Given the description of an element on the screen output the (x, y) to click on. 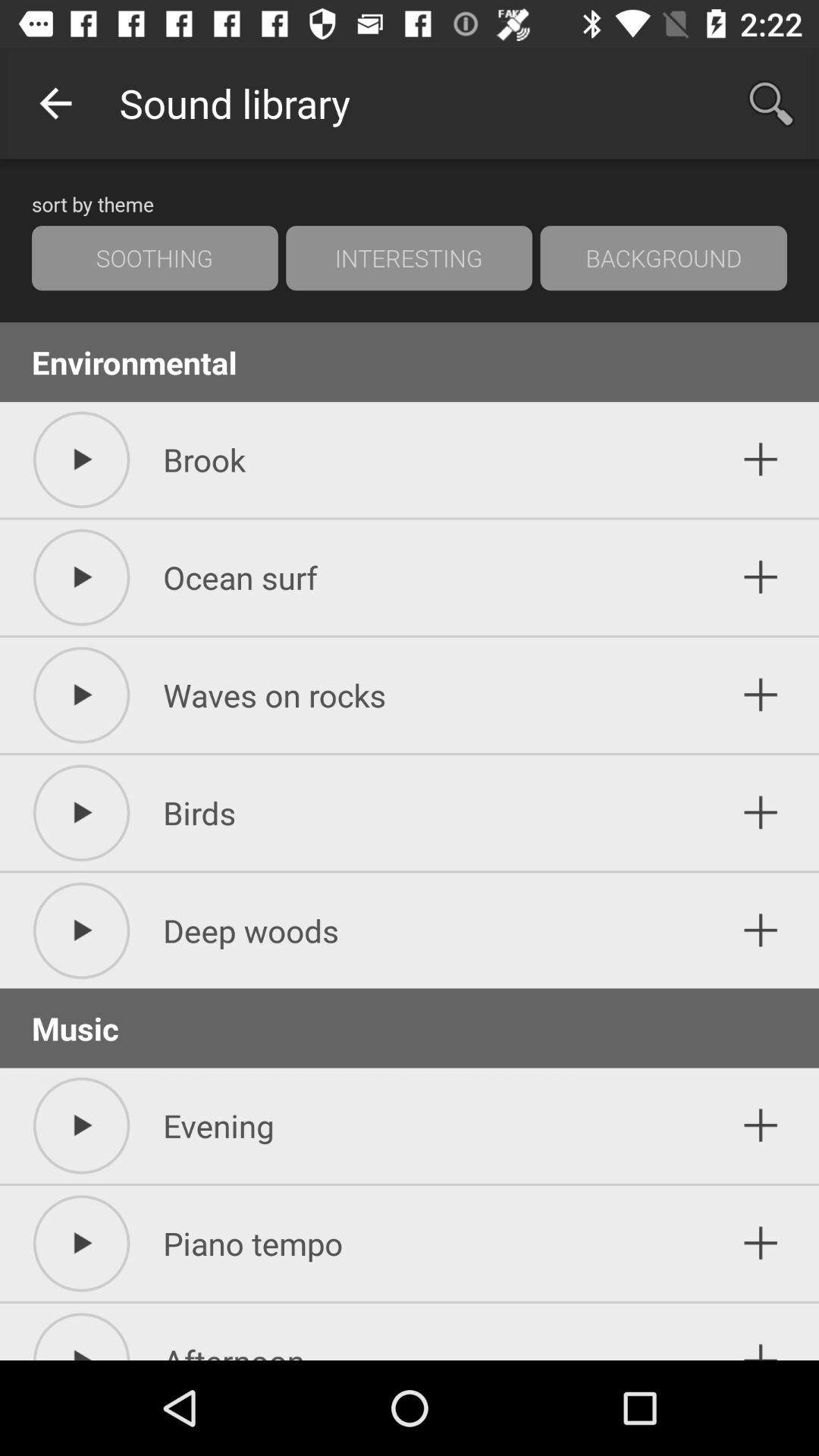
switch to select (761, 1243)
